Given the description of an element on the screen output the (x, y) to click on. 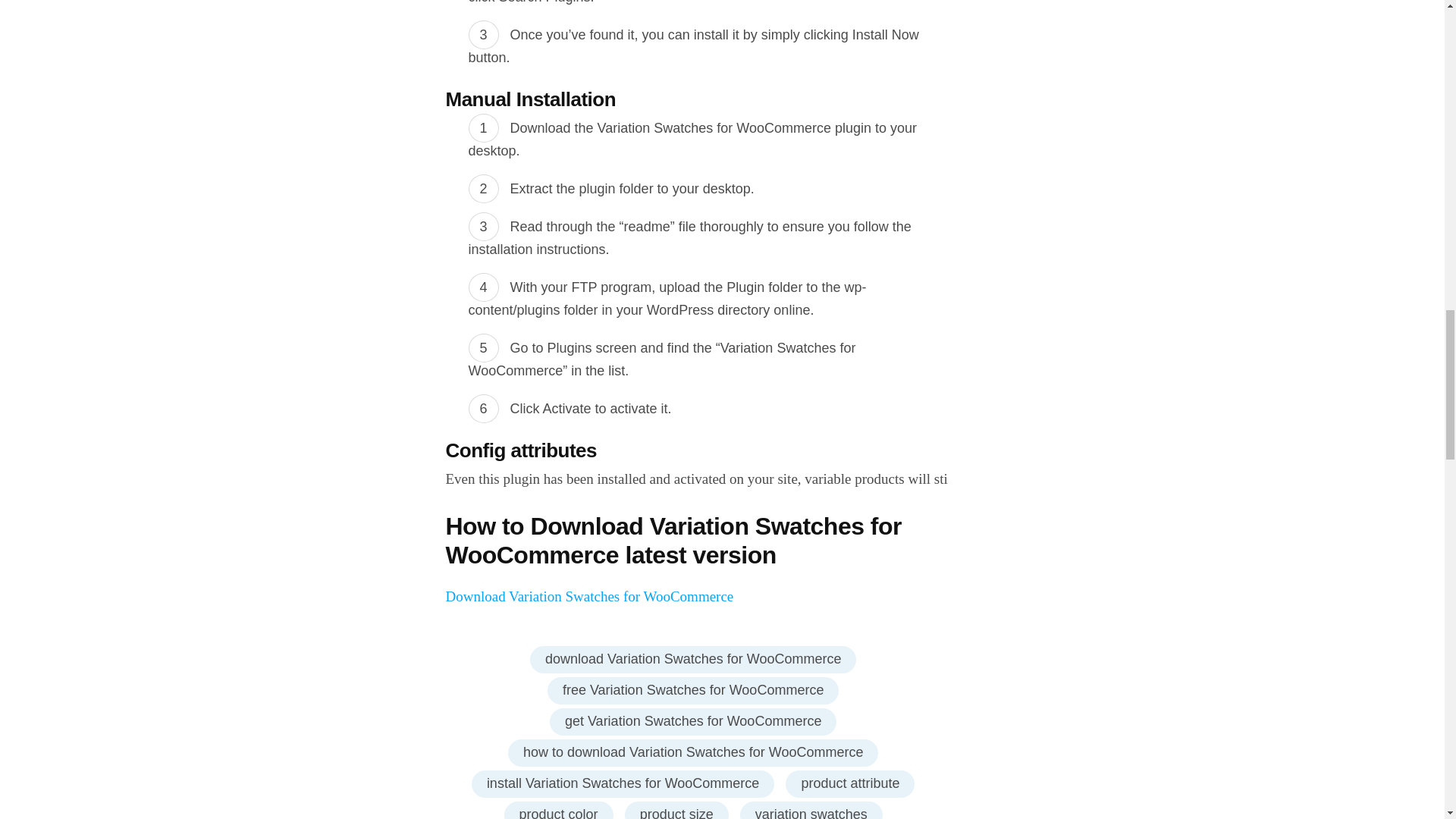
product attribute (850, 783)
free Variation Swatches for WooCommerce (692, 690)
Download Variation Swatches for WooCommerce (589, 596)
install Variation Swatches for WooCommerce (622, 783)
variation swatches (810, 810)
download Variation Swatches for WooCommerce (693, 659)
product color (557, 810)
product size (676, 810)
Download Variation Swatches for WooCommerce (589, 596)
get Variation Swatches for WooCommerce (692, 721)
how to download Variation Swatches for WooCommerce (693, 752)
